Given the description of an element on the screen output the (x, y) to click on. 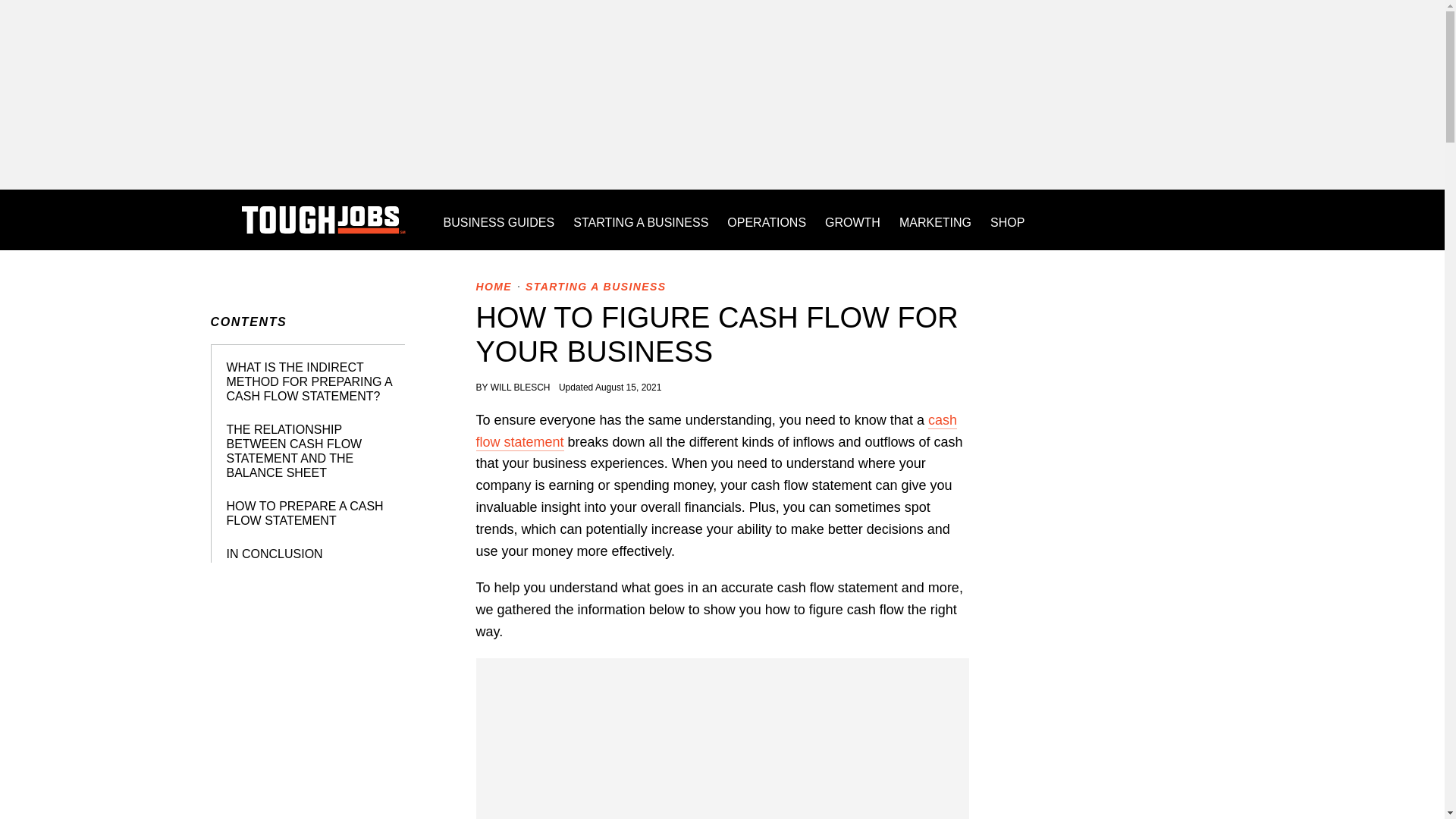
WILL BLESCH (521, 387)
BUSINESS GUIDES (498, 219)
IN CONCLUSION (273, 554)
GROWTH (852, 219)
MARKETING (935, 219)
STARTING A BUSINESS (595, 286)
HOW TO PREPARE A CASH FLOW STATEMENT (303, 513)
HOME (494, 286)
